Given the description of an element on the screen output the (x, y) to click on. 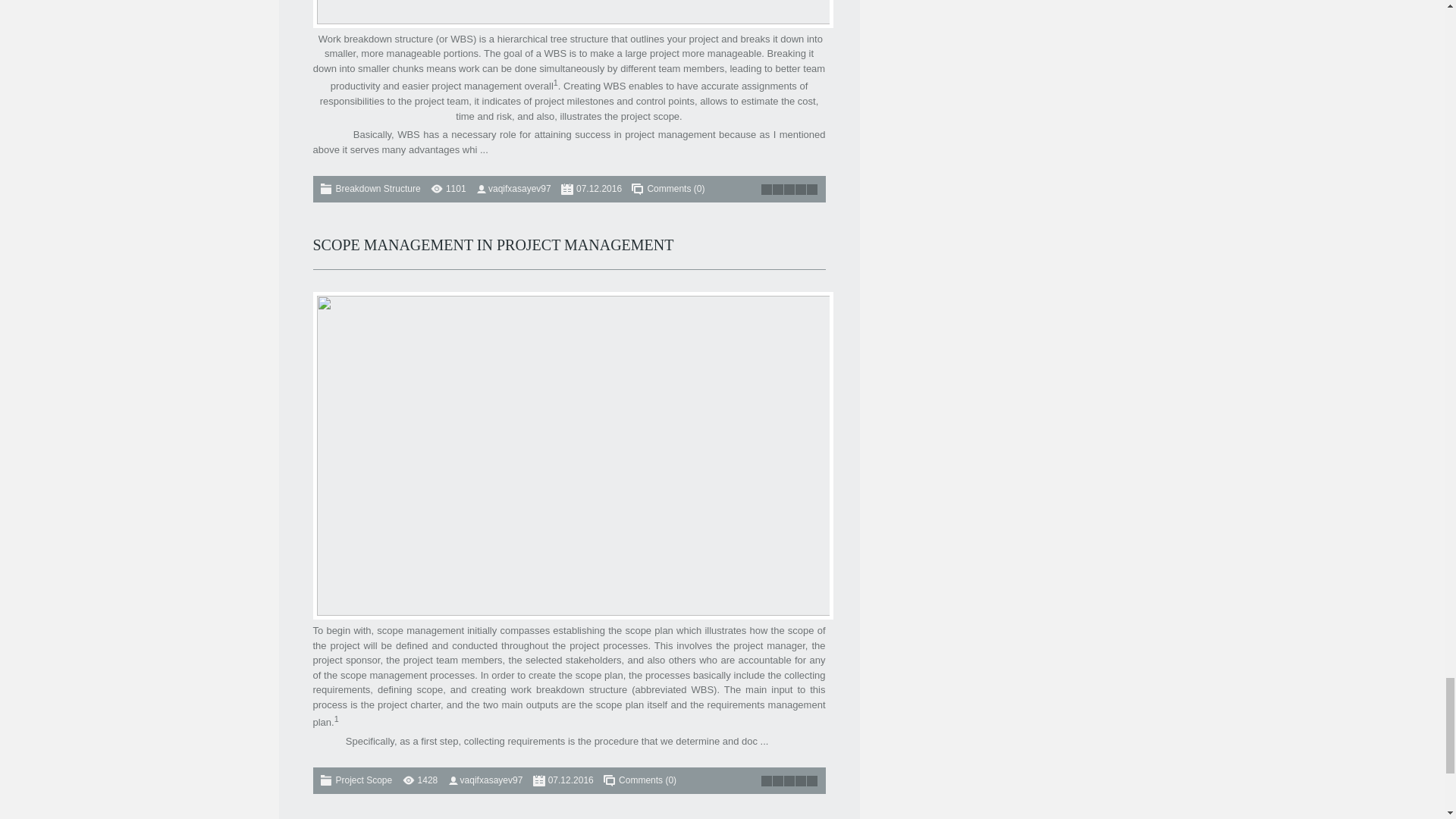
23:48 (598, 188)
